Given the description of an element on the screen output the (x, y) to click on. 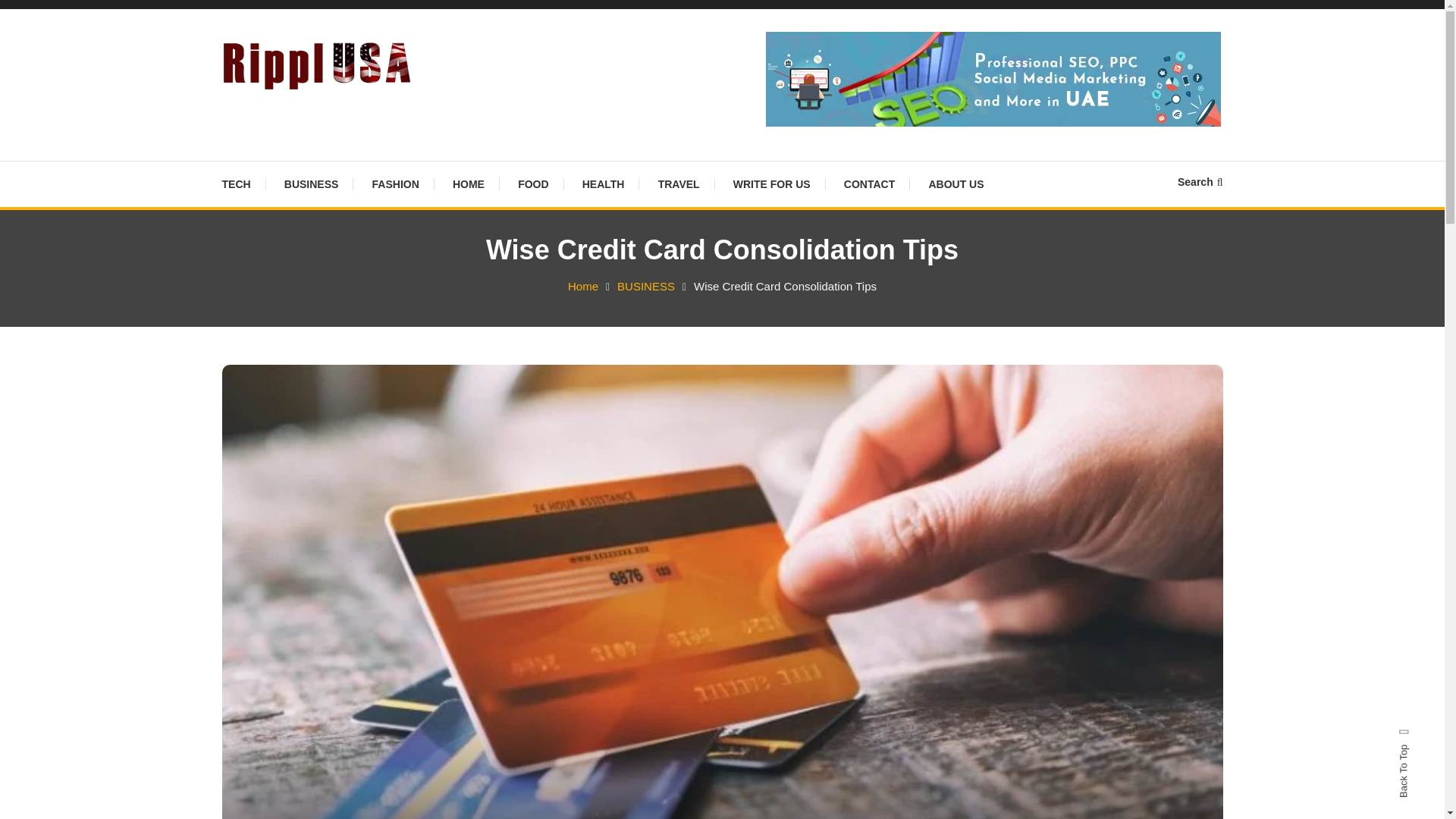
TRAVEL (678, 184)
TECH (242, 184)
BUSINESS (646, 286)
Home (582, 286)
WRITE FOR US (771, 184)
BUSINESS (311, 184)
CONTACT (869, 184)
Search (768, 432)
HOME (468, 184)
FASHION (394, 184)
HEALTH (603, 184)
Rippl USA (288, 112)
FOOD (532, 184)
ABOUT US (955, 184)
